Given the description of an element on the screen output the (x, y) to click on. 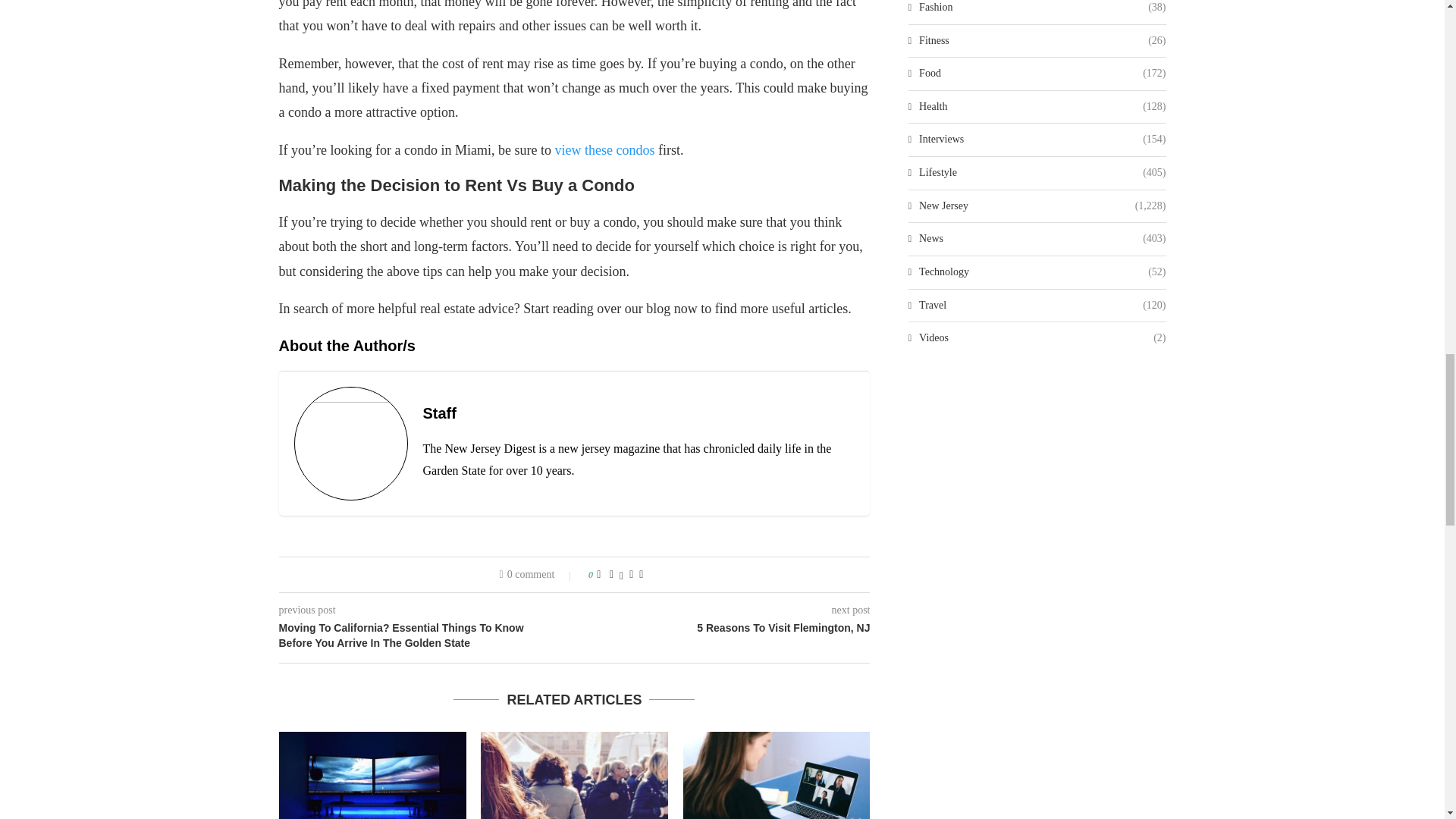
Understanding the Role of a DrPH in Health Policy (574, 775)
view these condos (603, 150)
How to Build the Ultimate Gaming PC (372, 775)
